Given the description of an element on the screen output the (x, y) to click on. 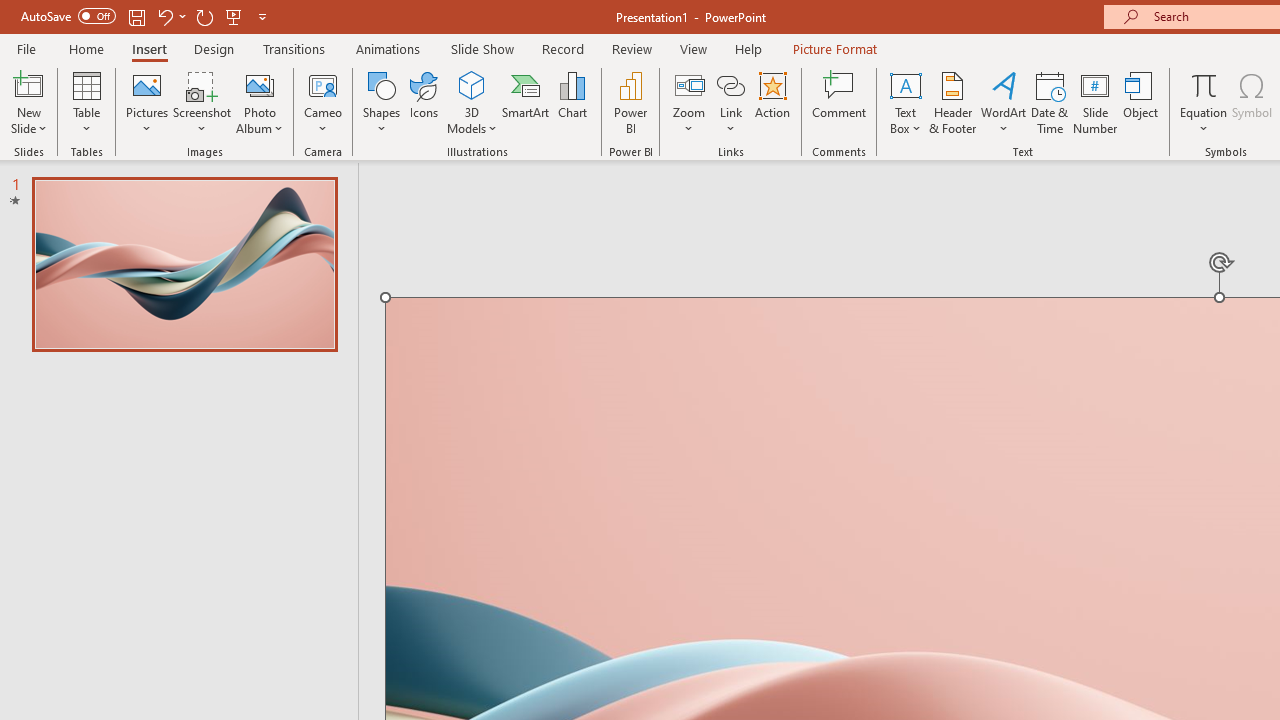
Comment (839, 102)
Table (86, 102)
SmartArt... (525, 102)
